Given the description of an element on the screen output the (x, y) to click on. 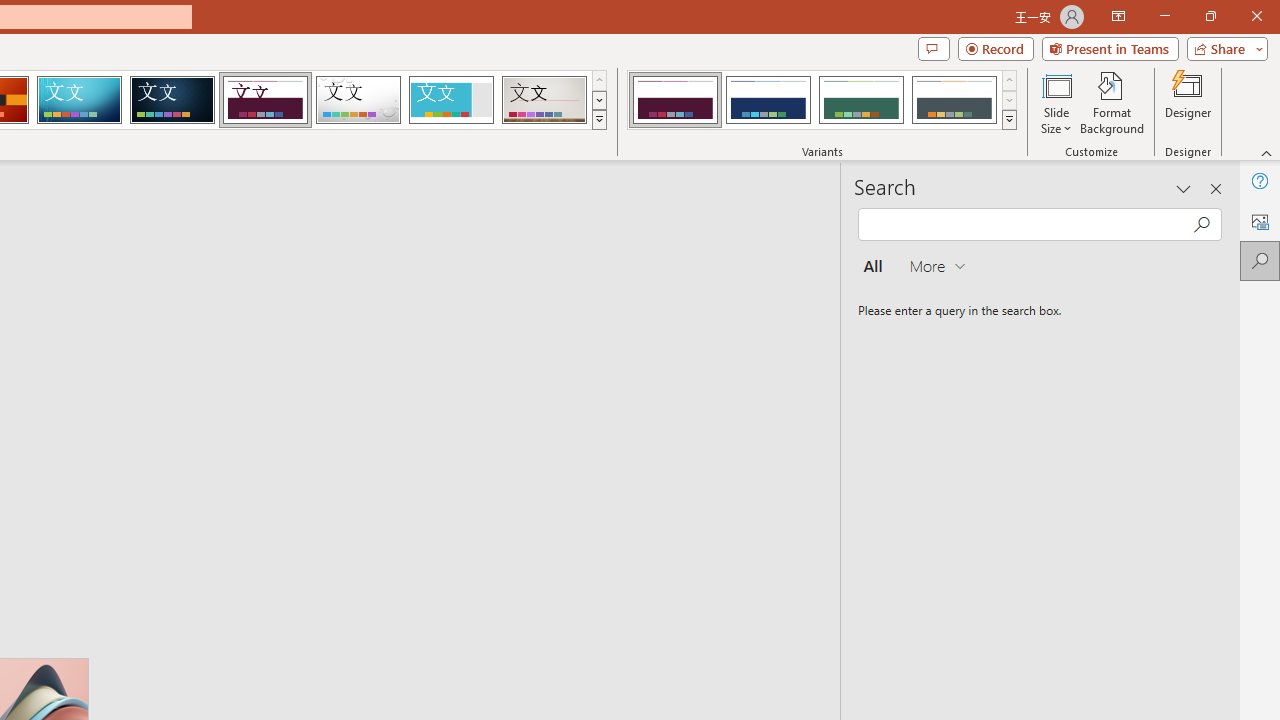
Gallery (544, 100)
Format Background (1111, 102)
Frame (450, 100)
